Given the description of an element on the screen output the (x, y) to click on. 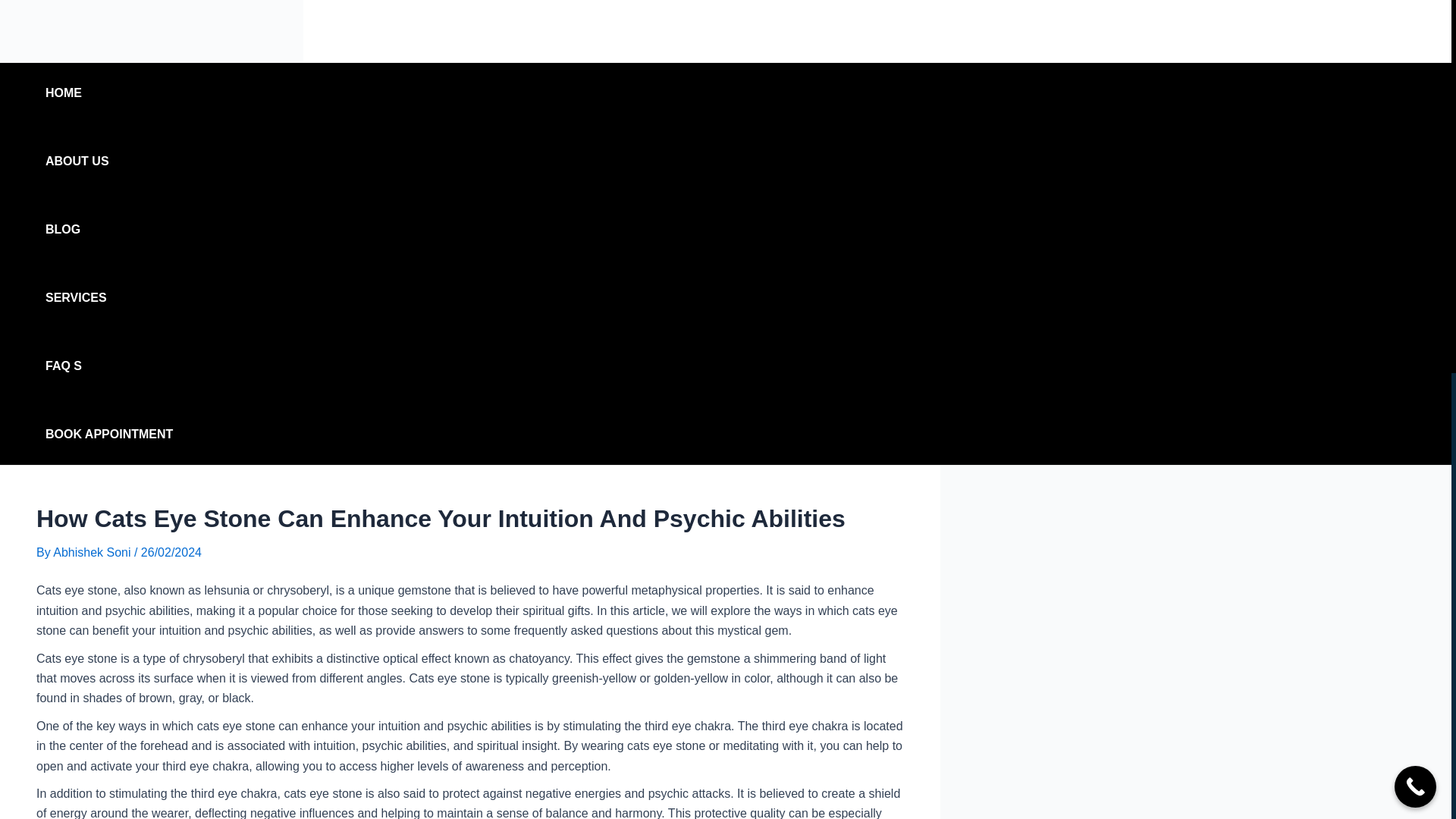
FAQ S (109, 365)
BOOK APPOINTMENT (109, 434)
ABOUT US (109, 161)
Abhishek Soni (92, 552)
View all posts by Abhishek Soni (92, 552)
abhishek Logo black - Astrologer Abhishek Soni (151, 31)
SERVICES (109, 297)
BLOG (109, 229)
HOME (109, 93)
